Given the description of an element on the screen output the (x, y) to click on. 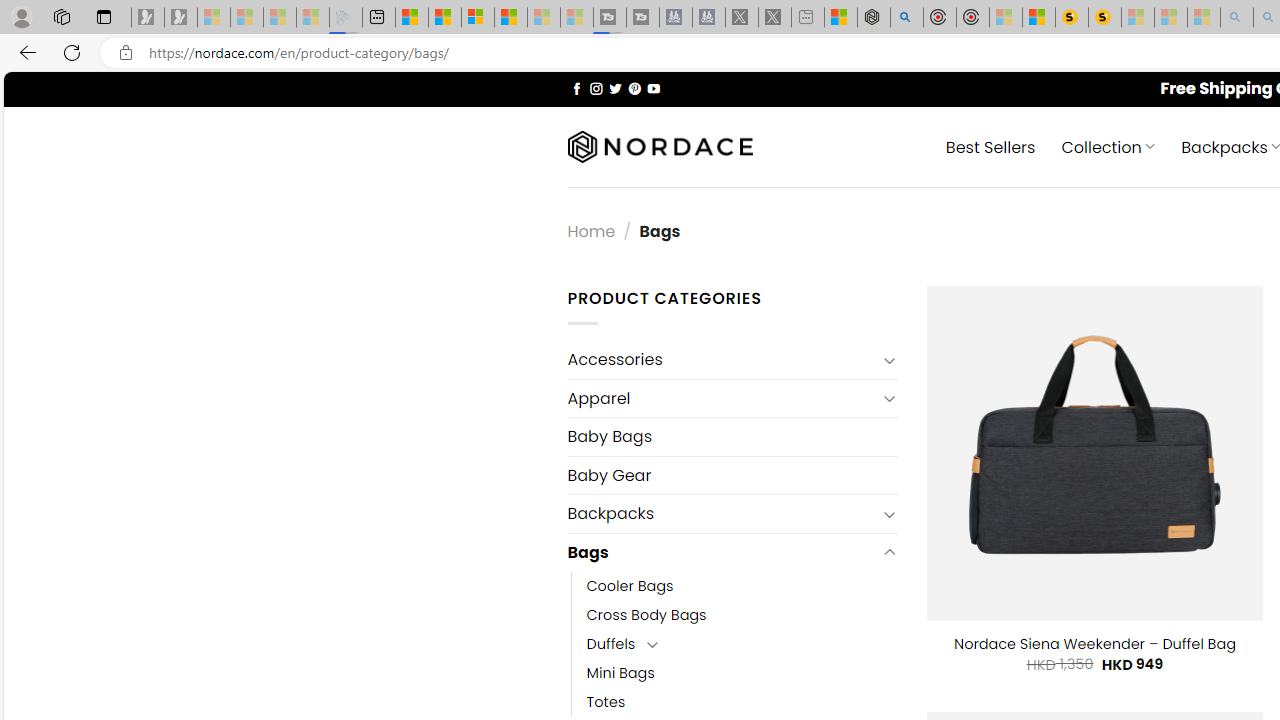
Follow on Facebook (576, 88)
Cooler Bags (742, 585)
Accessories (721, 359)
Follow on Pinterest (634, 88)
Totes (605, 701)
Cross Body Bags (646, 614)
poe - Search (906, 17)
